Given the description of an element on the screen output the (x, y) to click on. 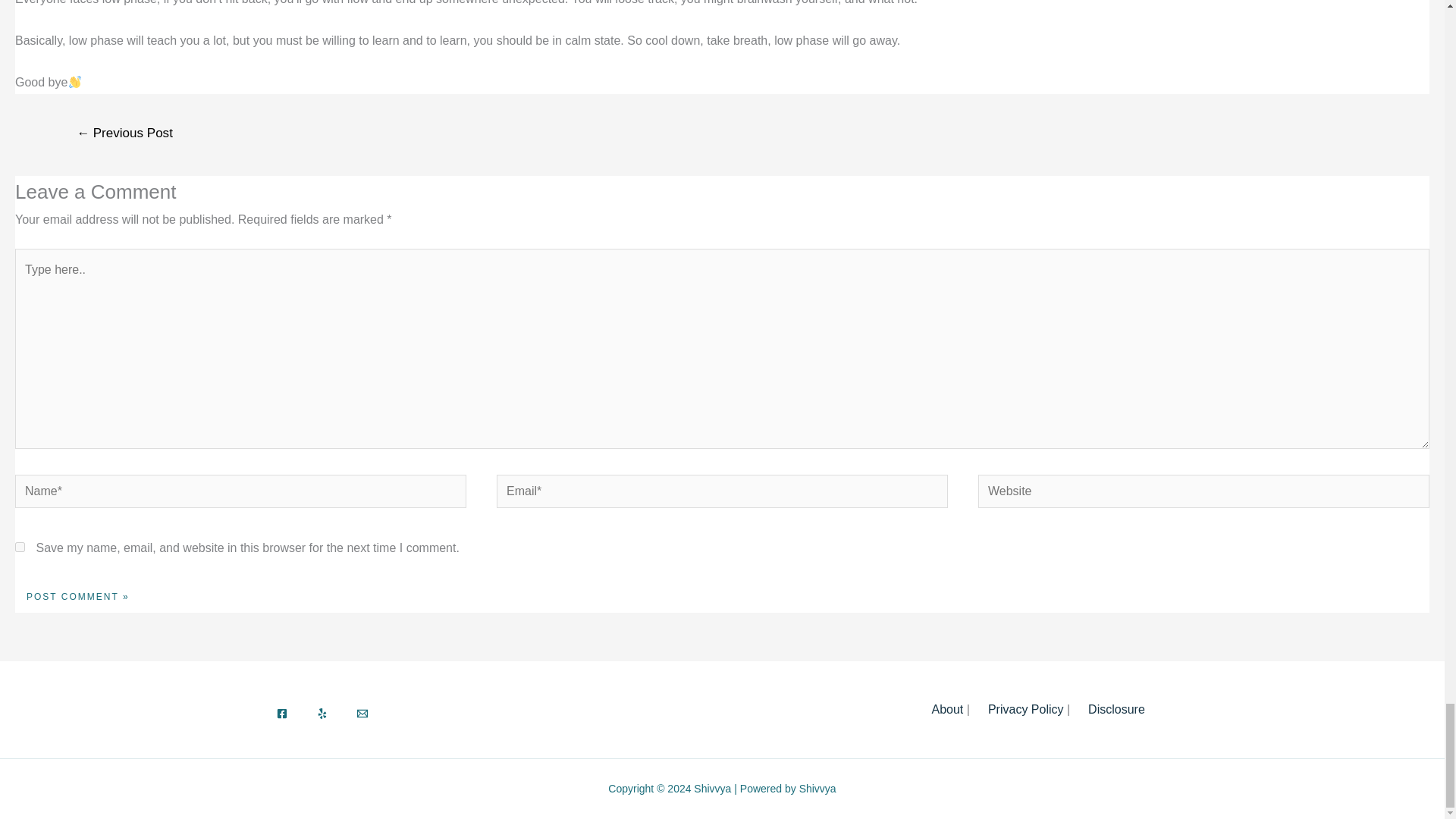
yes (19, 547)
